Given the description of an element on the screen output the (x, y) to click on. 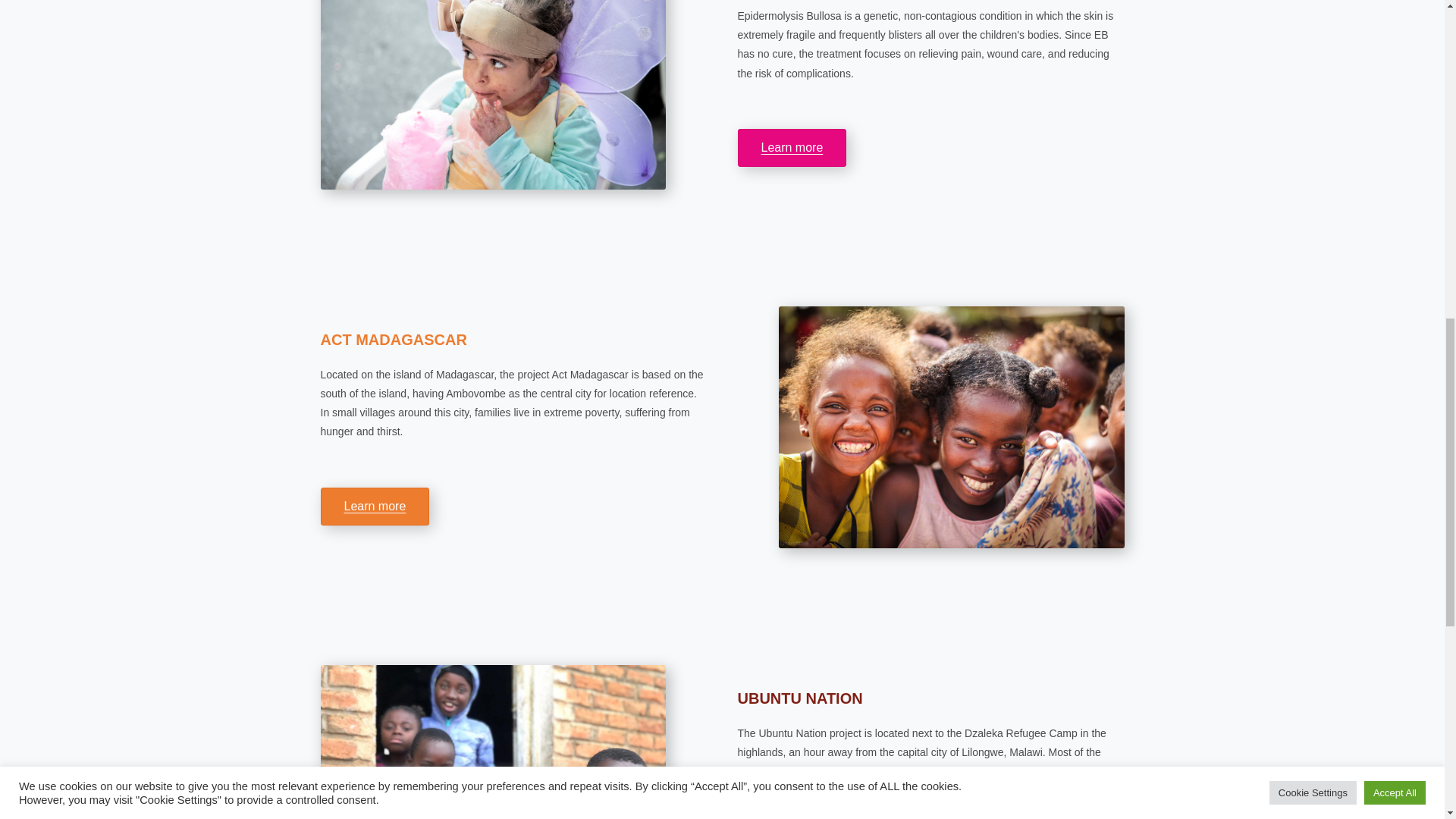
Learn more (374, 506)
Learn more (790, 147)
